Given the description of an element on the screen output the (x, y) to click on. 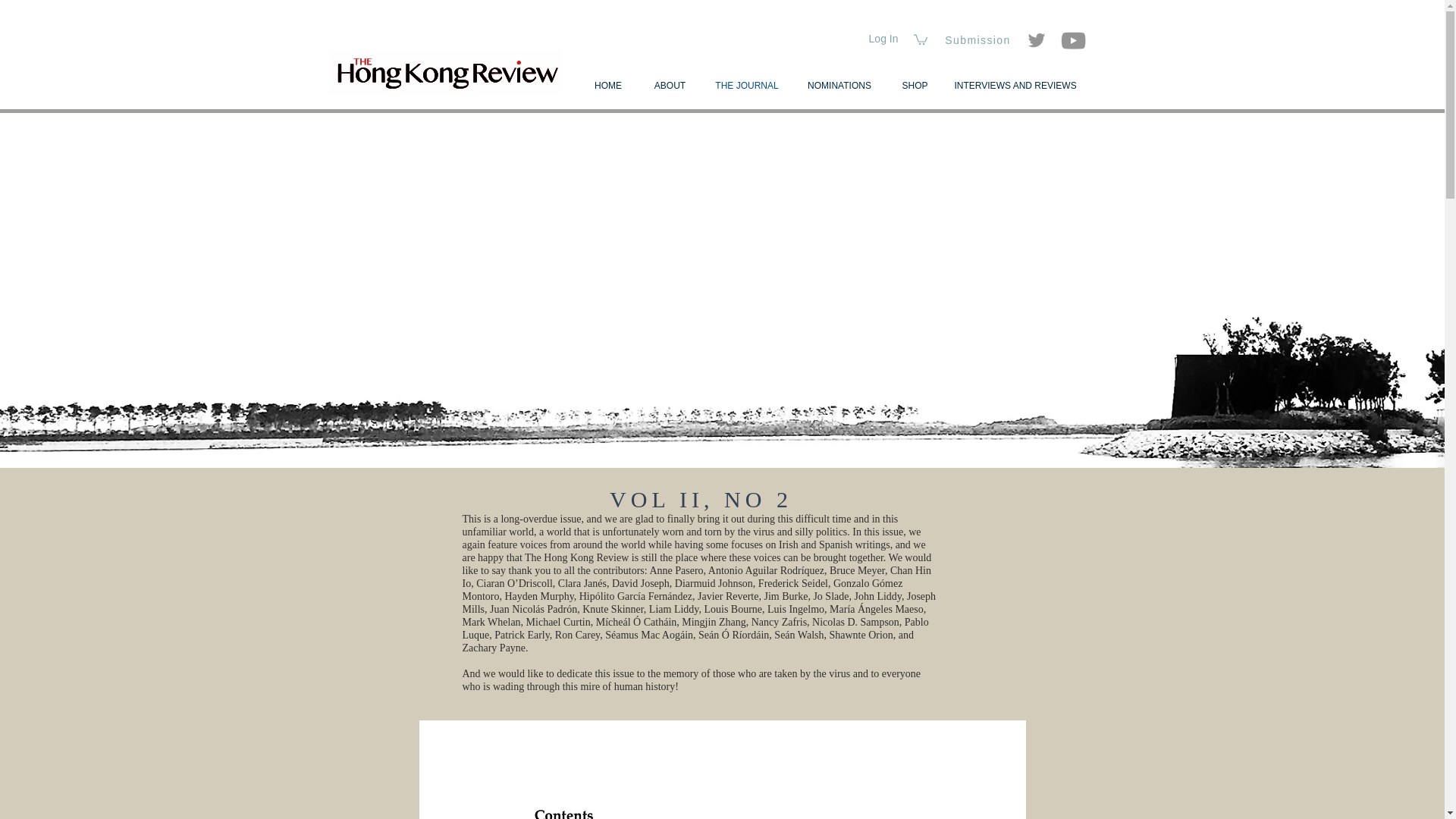
Submission (979, 40)
NOMINATIONS (839, 85)
ABOUT (670, 85)
HOME (607, 85)
THE JOURNAL (746, 85)
Log In (883, 39)
